Given the description of an element on the screen output the (x, y) to click on. 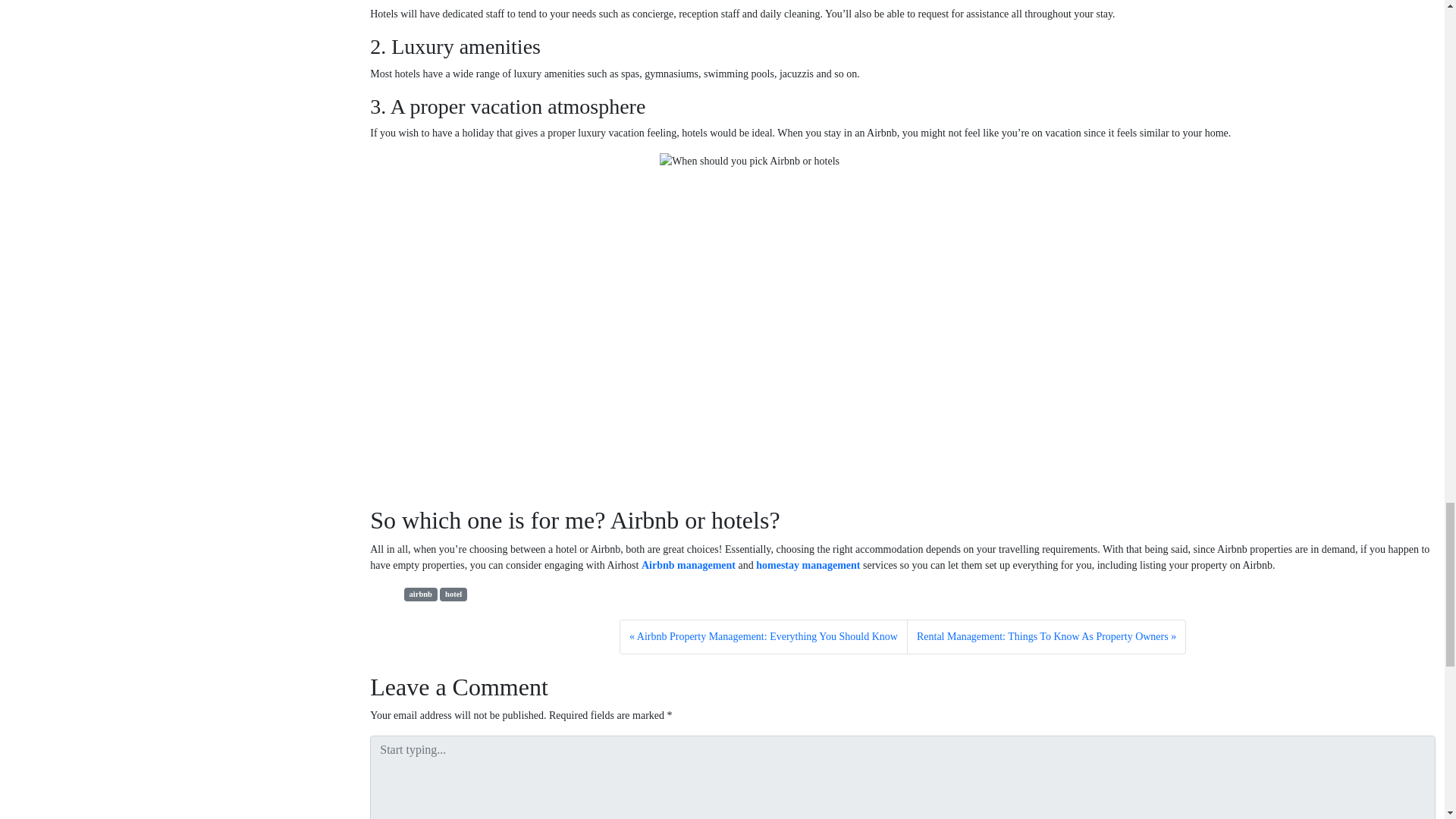
hotel (453, 594)
airbnb (421, 594)
Rental Management: Things To Know As Property Owners (1046, 636)
homestay management (807, 564)
Airbnb Property Management: Everything You Should Know (763, 636)
Airbnb management (688, 564)
